Given the description of an element on the screen output the (x, y) to click on. 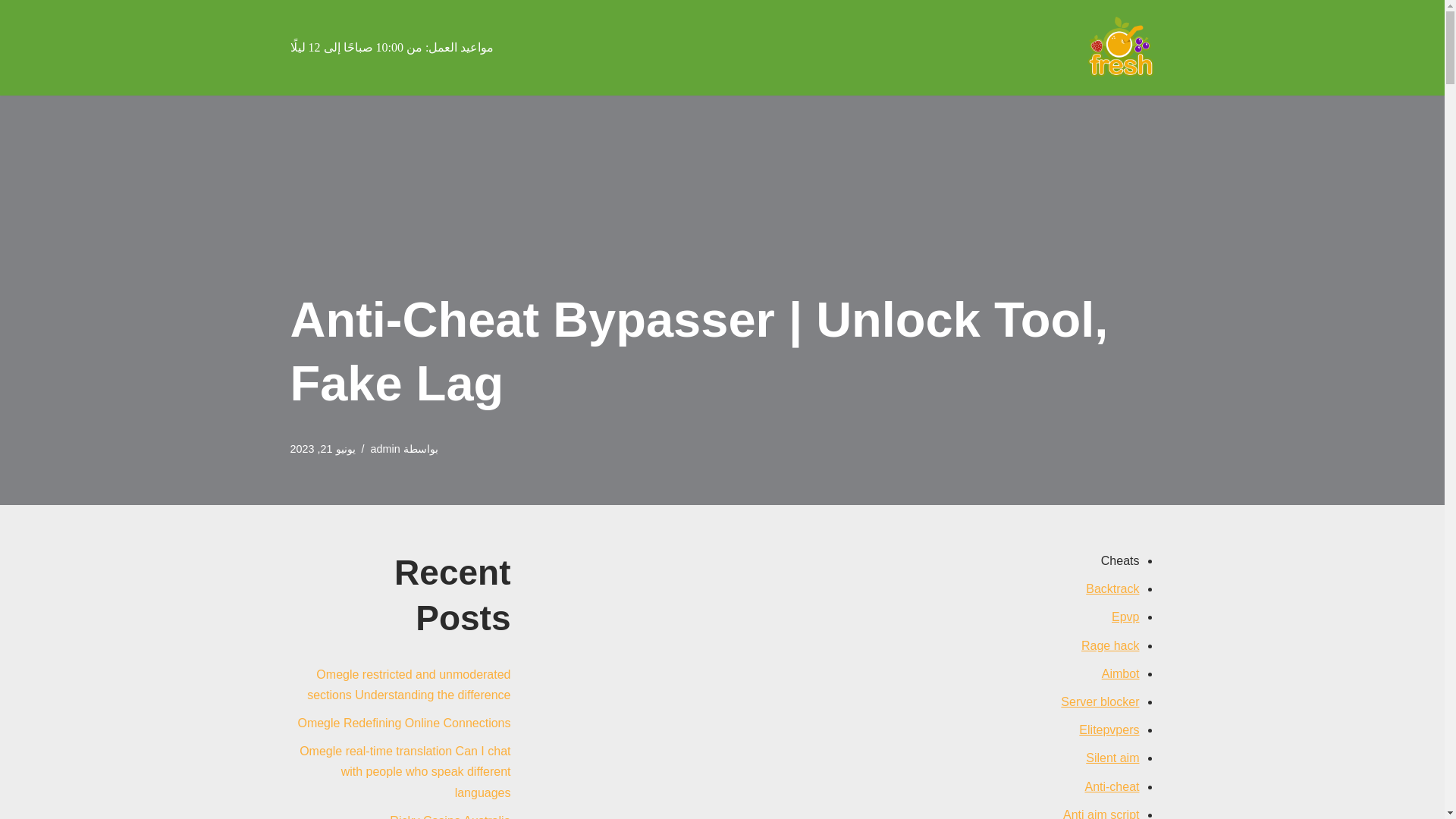
Silent aim (1112, 757)
Rage hack (1110, 645)
Omegle Redefining Online Connections (404, 722)
Server blocker (1099, 701)
Aimbot (1121, 673)
Anti-cheat (1111, 785)
Anti aim script (1100, 813)
Elitepvpers (1108, 729)
Ricky Casino Australia (450, 816)
admin (385, 449)
Backtrack (1112, 588)
Epvp (1125, 616)
